Given the description of an element on the screen output the (x, y) to click on. 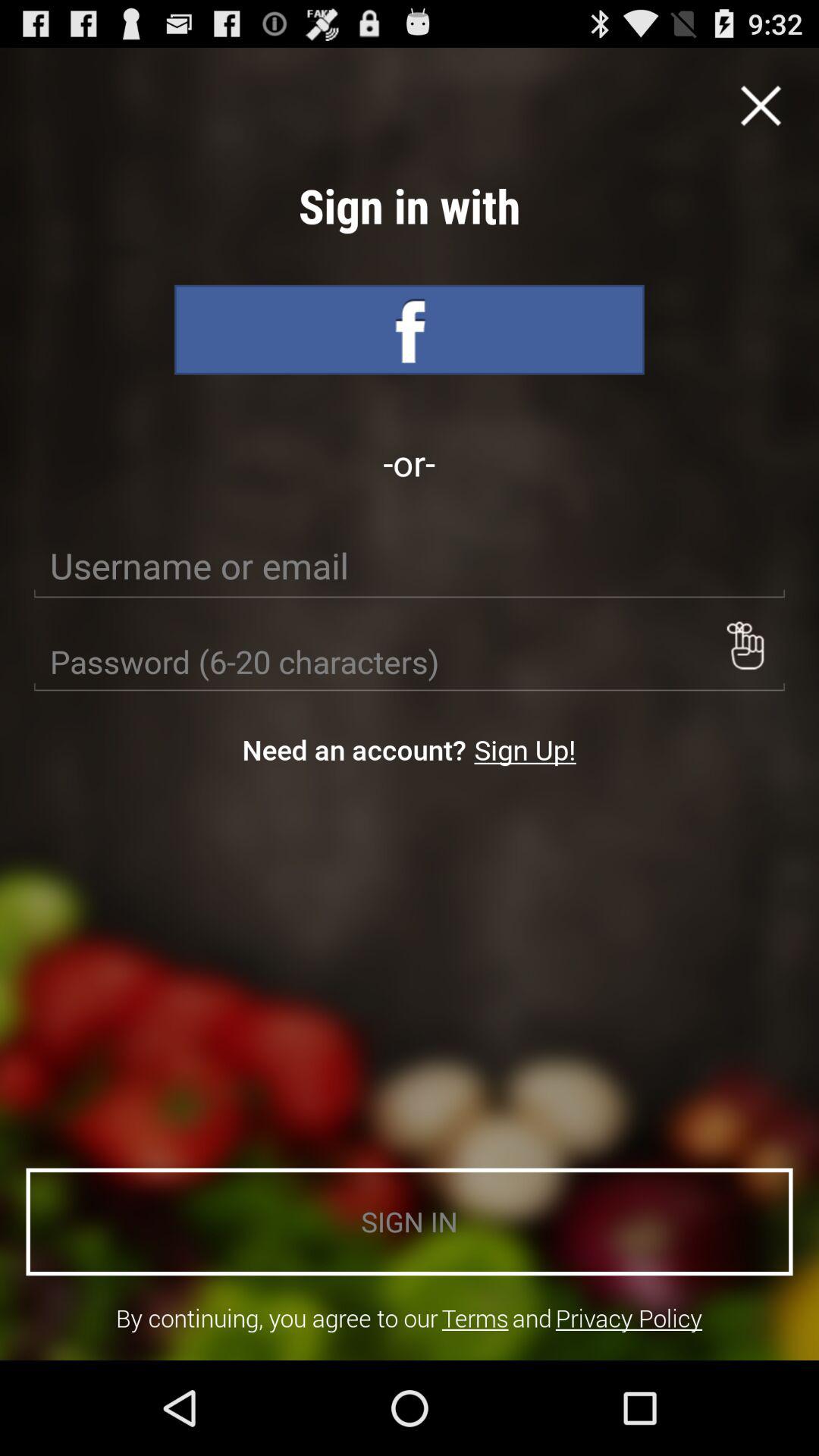
password (409, 661)
